Given the description of an element on the screen output the (x, y) to click on. 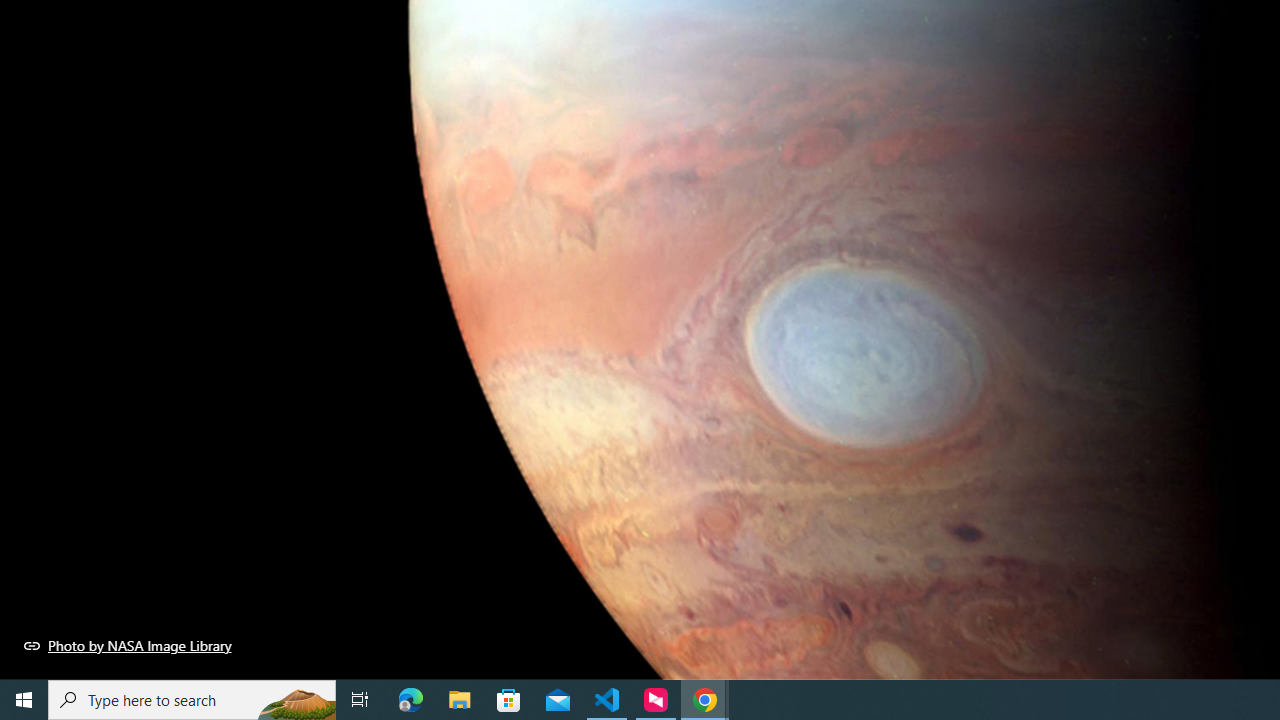
Photo by NASA Image Library (127, 645)
